Given the description of an element on the screen output the (x, y) to click on. 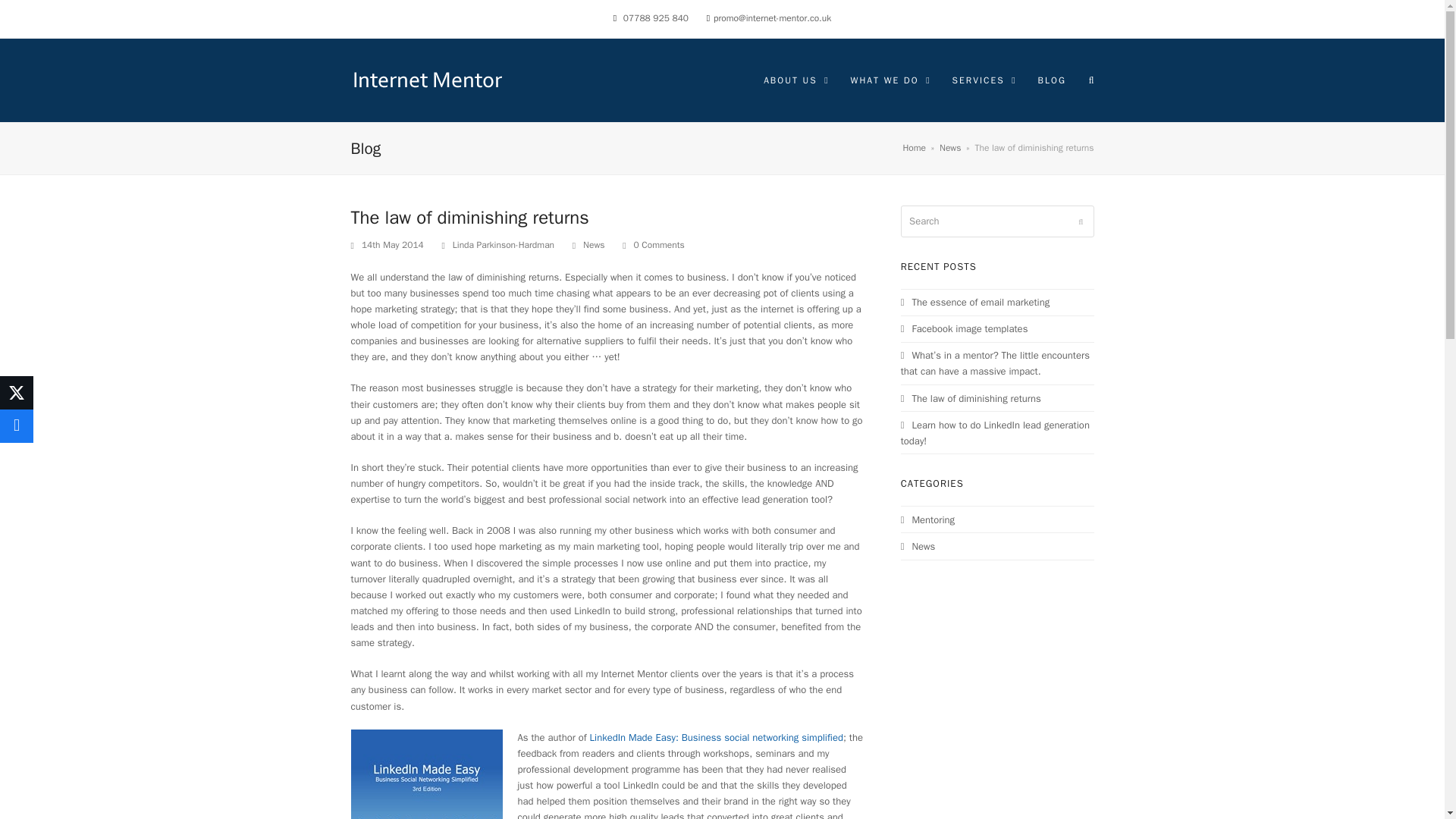
Posts by Linda Parkinson-Hardman (503, 244)
0 Comments (658, 245)
SERVICES (983, 79)
WHAT WE DO (890, 79)
0 Comments (653, 245)
BLOG (1051, 79)
Mentoring (928, 519)
Learn how to do LinkedIn lead generation today! (995, 432)
Home (914, 147)
The essence of email marketing (975, 301)
